Given the description of an element on the screen output the (x, y) to click on. 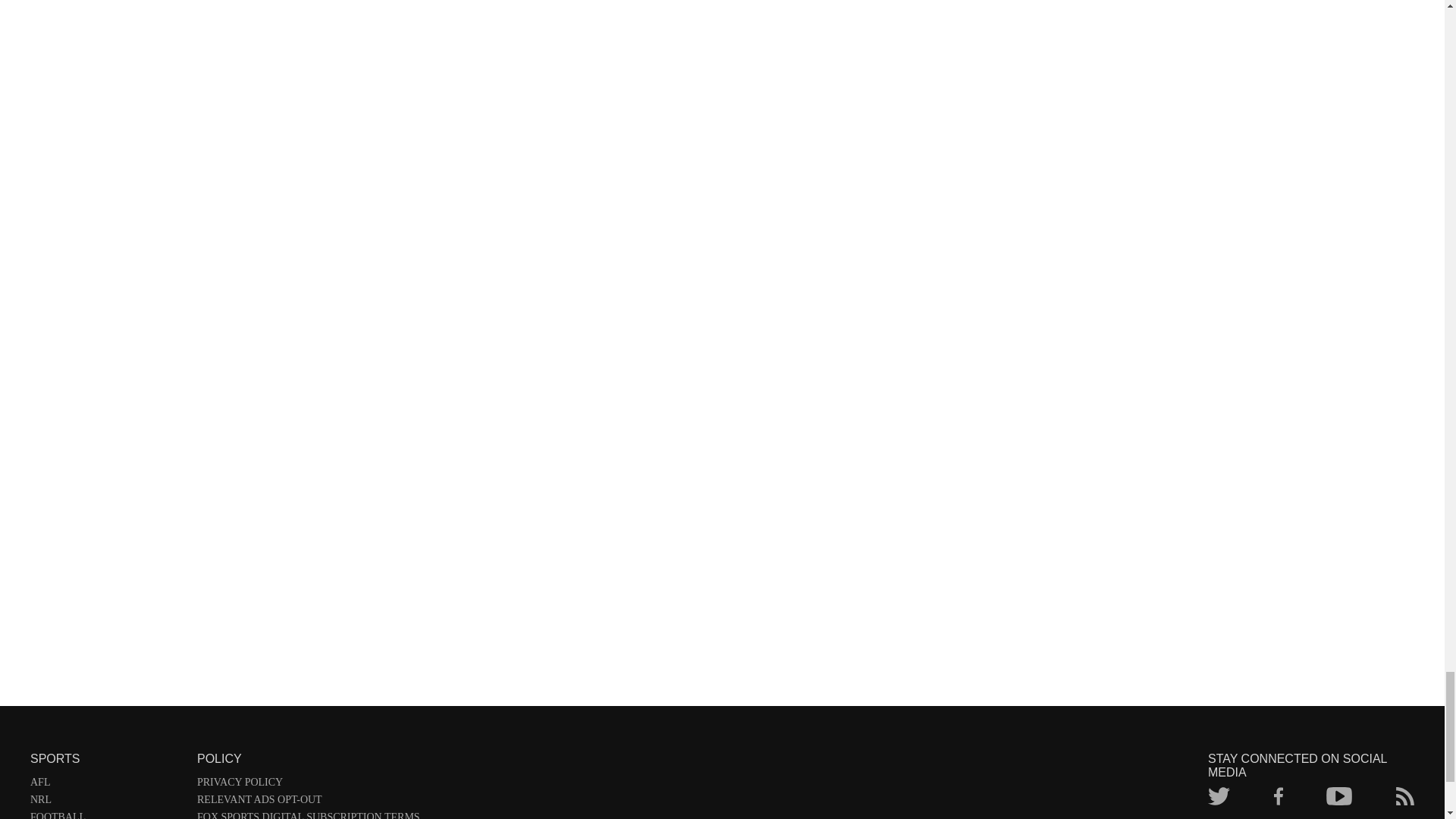
NRL (106, 802)
AFL (106, 784)
FOOTBALL (106, 815)
